Given the description of an element on the screen output the (x, y) to click on. 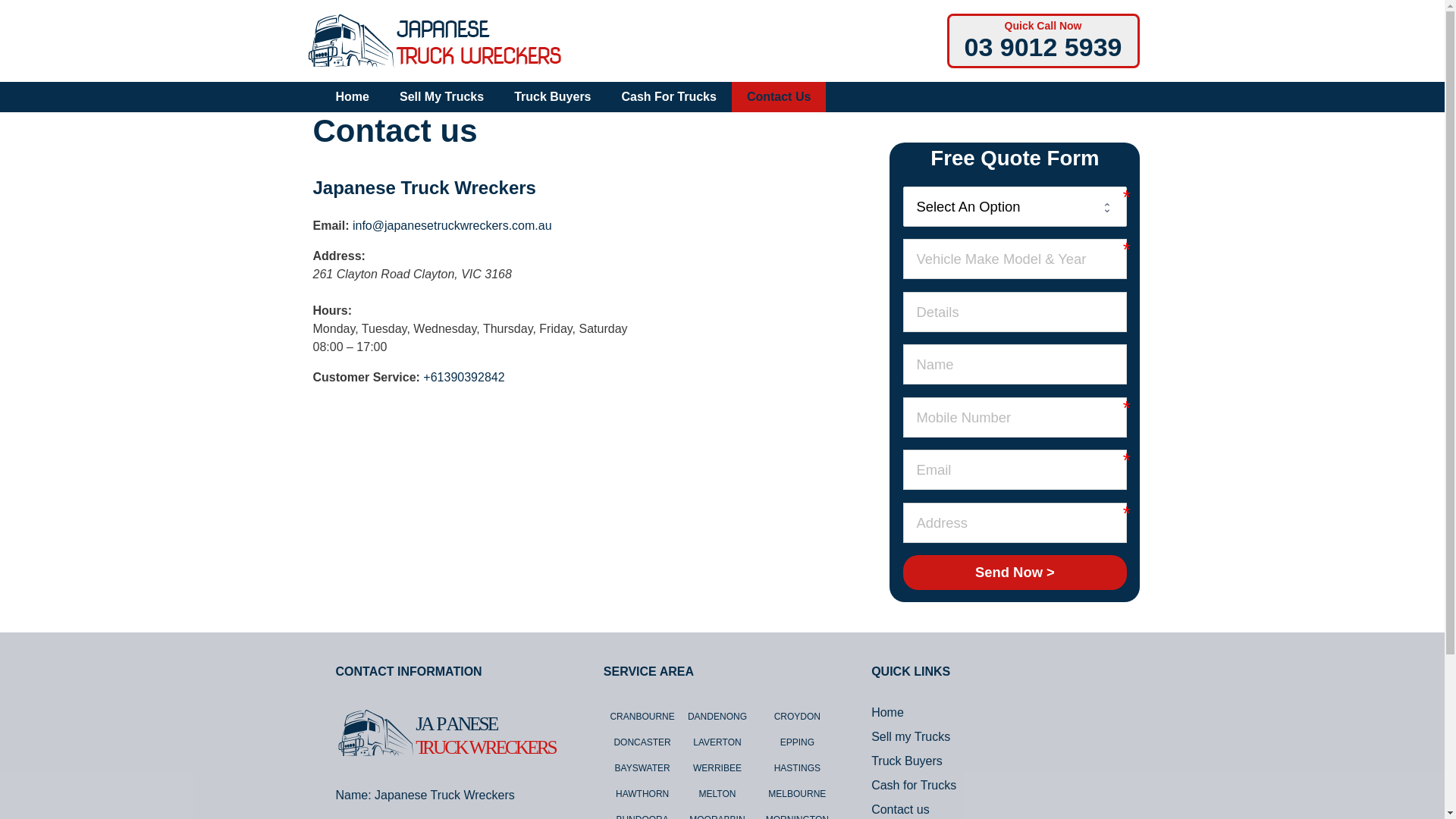
Japanese Truck Wreckers Element type: hover (434, 40)
Truck Buyers Element type: text (551, 96)
Japanese Truck Wreckers Element type: hover (434, 39)
Sell My Trucks Element type: text (441, 96)
Cash For Trucks Element type: text (668, 96)
Send Now > Element type: text (1014, 572)
Japanese Truck Wreckers Element type: text (423, 187)
+61390392842 Element type: text (463, 376)
Contact us Element type: text (899, 809)
Sell my Trucks Element type: text (910, 736)
Contact Us Element type: text (778, 96)
03 9012 5939 Element type: text (1043, 46)
Truck Buyers Element type: text (906, 760)
Home Element type: text (887, 712)
Cash for Trucks Element type: text (913, 784)
Home Element type: text (351, 96)
info@japanesetruckwreckers.com.au Element type: text (452, 225)
